Given the description of an element on the screen output the (x, y) to click on. 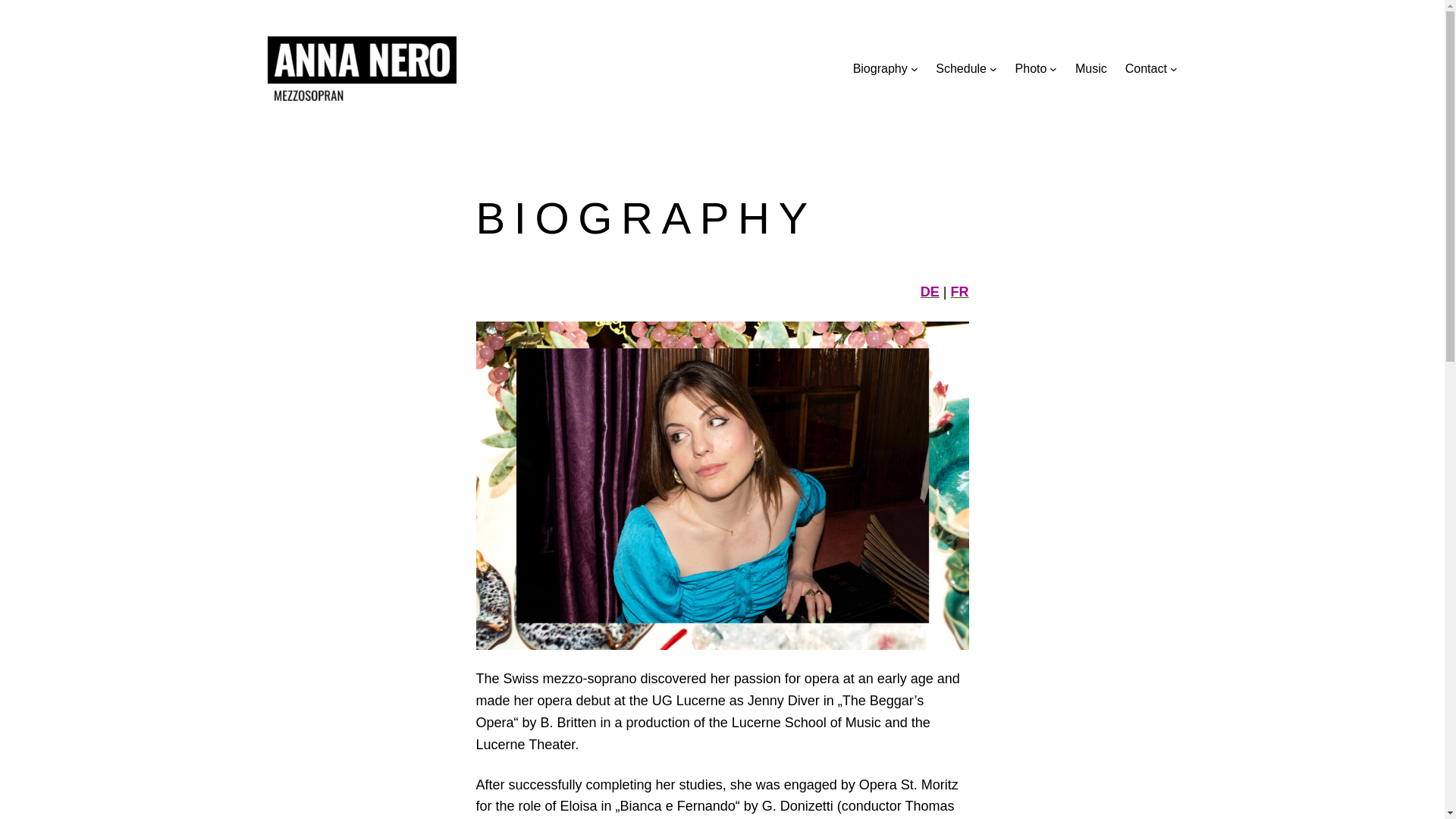
Schedule Element type: text (960, 68)
FR Element type: text (959, 291)
DE Element type: text (929, 291)
Contact Element type: text (1146, 68)
Music Element type: text (1091, 68)
Photo Element type: text (1031, 68)
Biography Element type: text (880, 68)
